Given the description of an element on the screen output the (x, y) to click on. 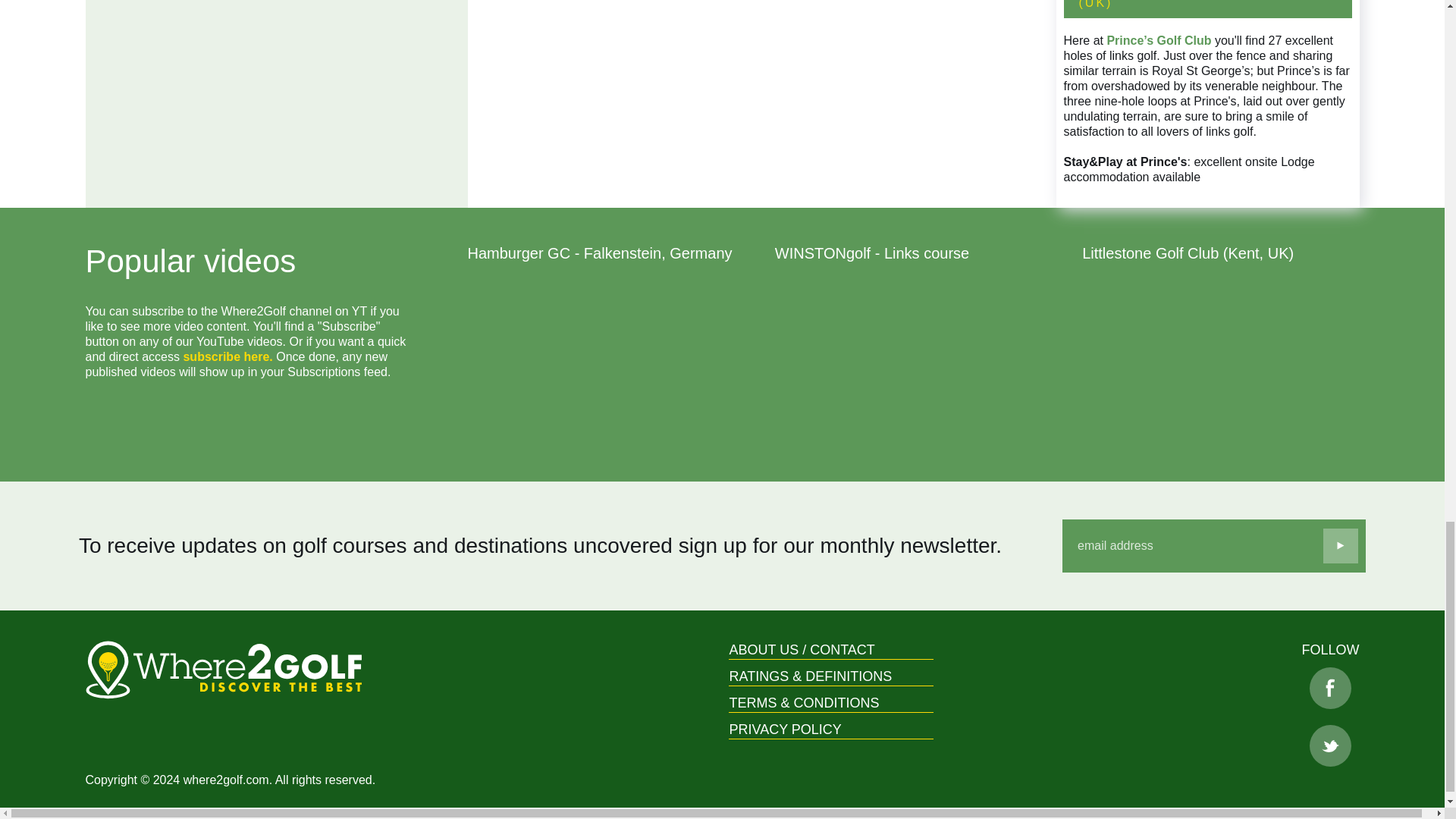
Subscribe (1340, 545)
Hamburger GC - Falkenstein (605, 365)
WINSTONgolf - Links course (912, 365)
